Given the description of an element on the screen output the (x, y) to click on. 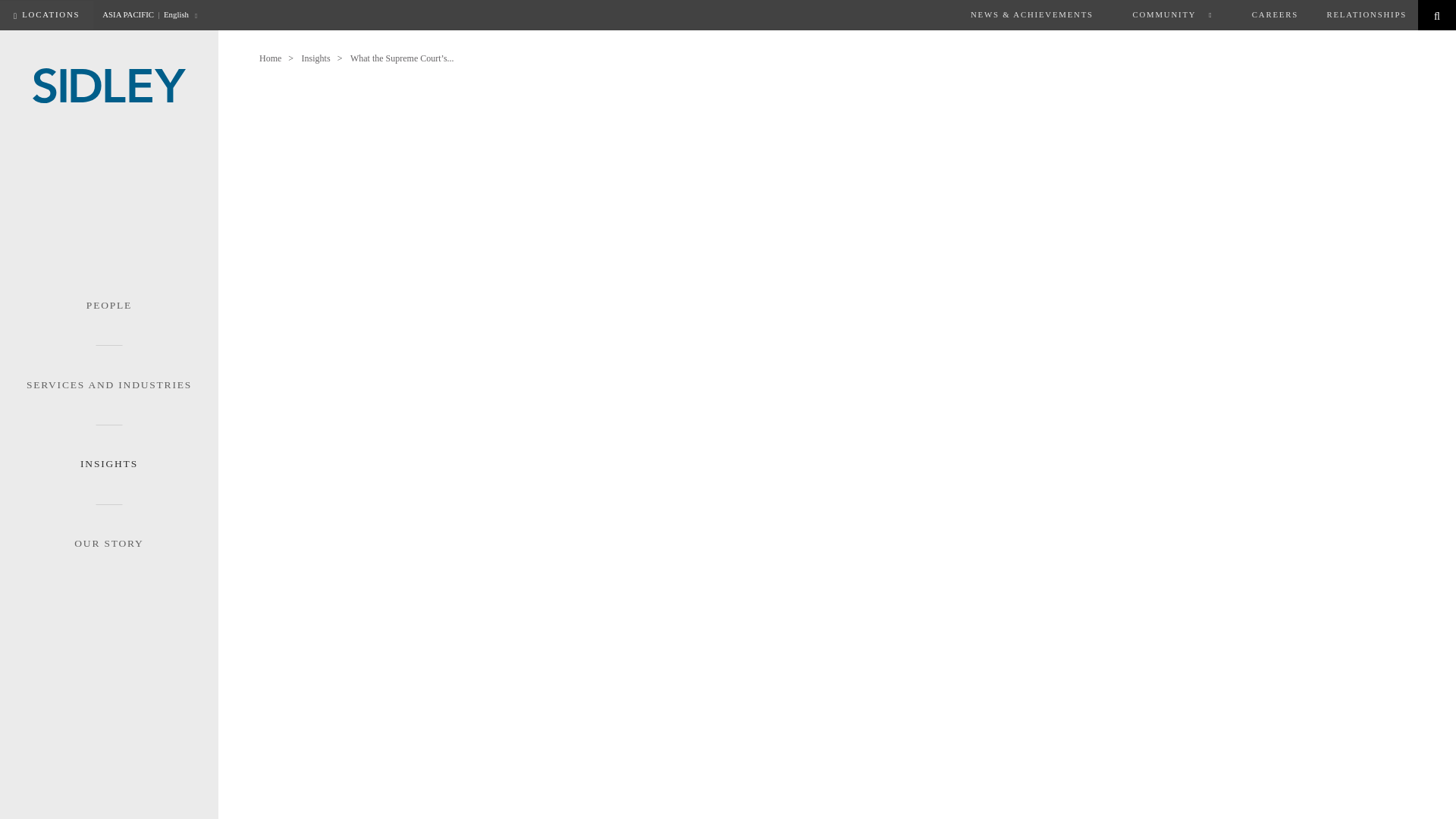
Insights (315, 58)
SERVICES AND INDUSTRIES (109, 367)
CAREERS (1275, 15)
INSIGHTS (109, 447)
RELATIONSHIPS (1367, 15)
PEOPLE (109, 305)
OUR STORY (109, 527)
Home (270, 58)
LOCATIONS (46, 14)
